Given the description of an element on the screen output the (x, y) to click on. 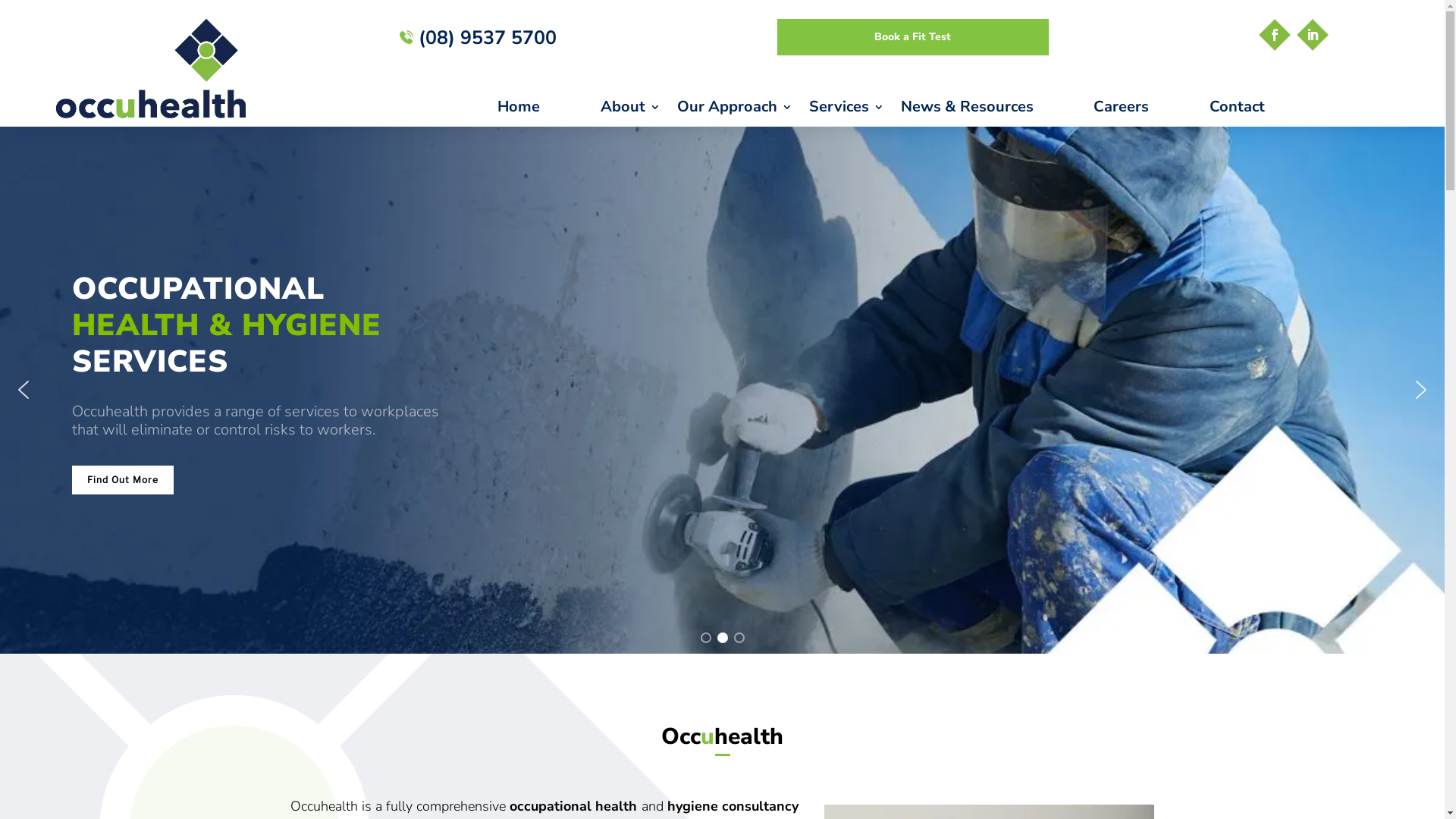
About Element type: text (630, 109)
Occuhealth Element type: hover (150, 68)
Careers Element type: text (1142, 109)
Our Approach Element type: text (734, 109)
Follow on Facebook Element type: hover (1274, 34)
(08) 9537 5700 Element type: text (477, 37)
Find Out More Element type: text (122, 479)
Follow on LinkedIn Element type: hover (1312, 34)
Services Element type: text (846, 109)
Book a Fit Test Element type: text (912, 36)
Contact Element type: text (1258, 109)
News & Resources Element type: text (988, 109)
Home Element type: text (540, 109)
